Given the description of an element on the screen output the (x, y) to click on. 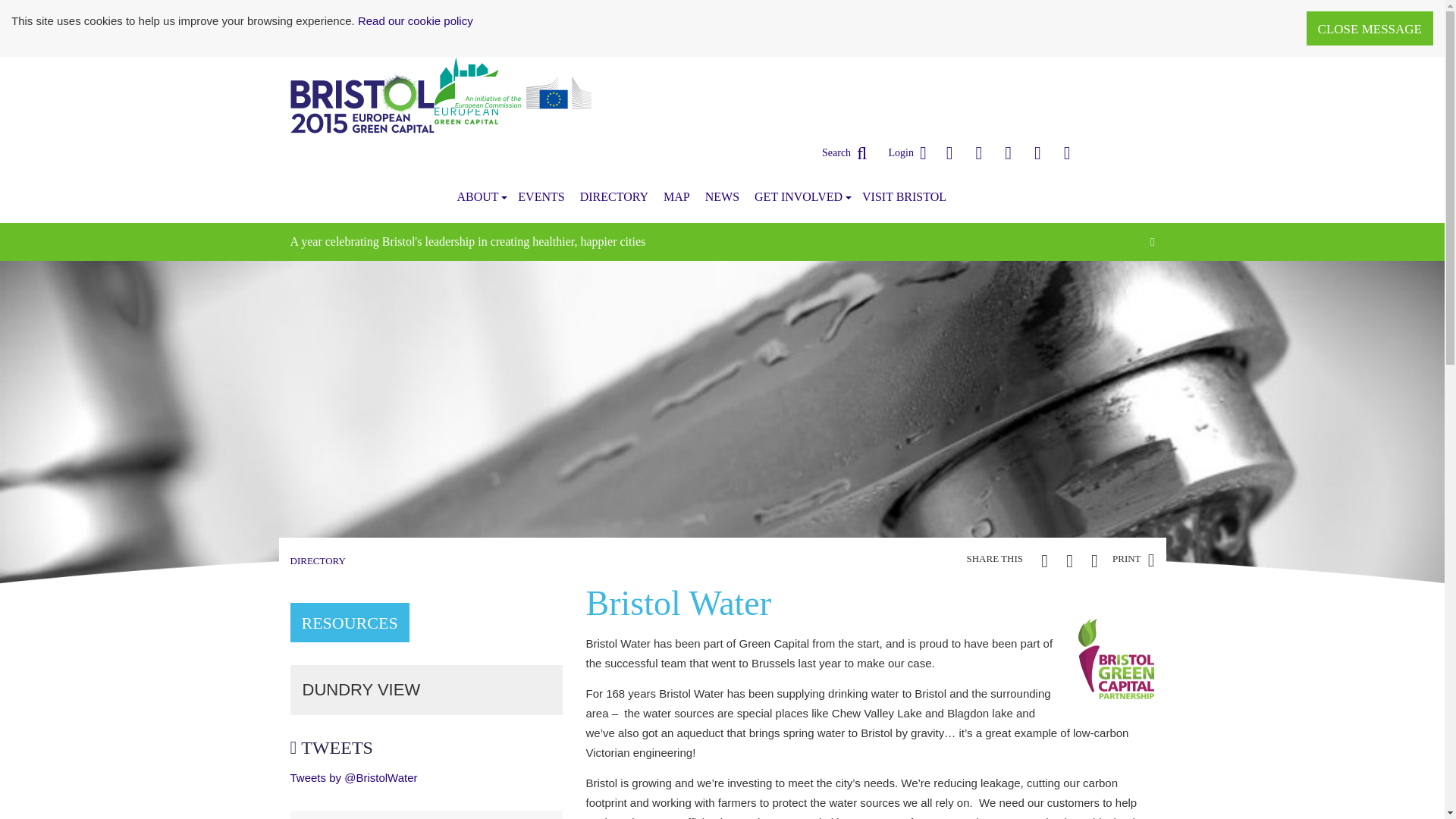
GET INVOLVED (800, 196)
Read our cookie policy (415, 20)
EVENTS (541, 196)
CLOSE MESSAGE (1369, 28)
VISIT BRISTOL (903, 196)
DIRECTORY (614, 196)
Search (845, 153)
NEWS (721, 196)
ABOUT (479, 196)
Login (907, 153)
